Given the description of an element on the screen output the (x, y) to click on. 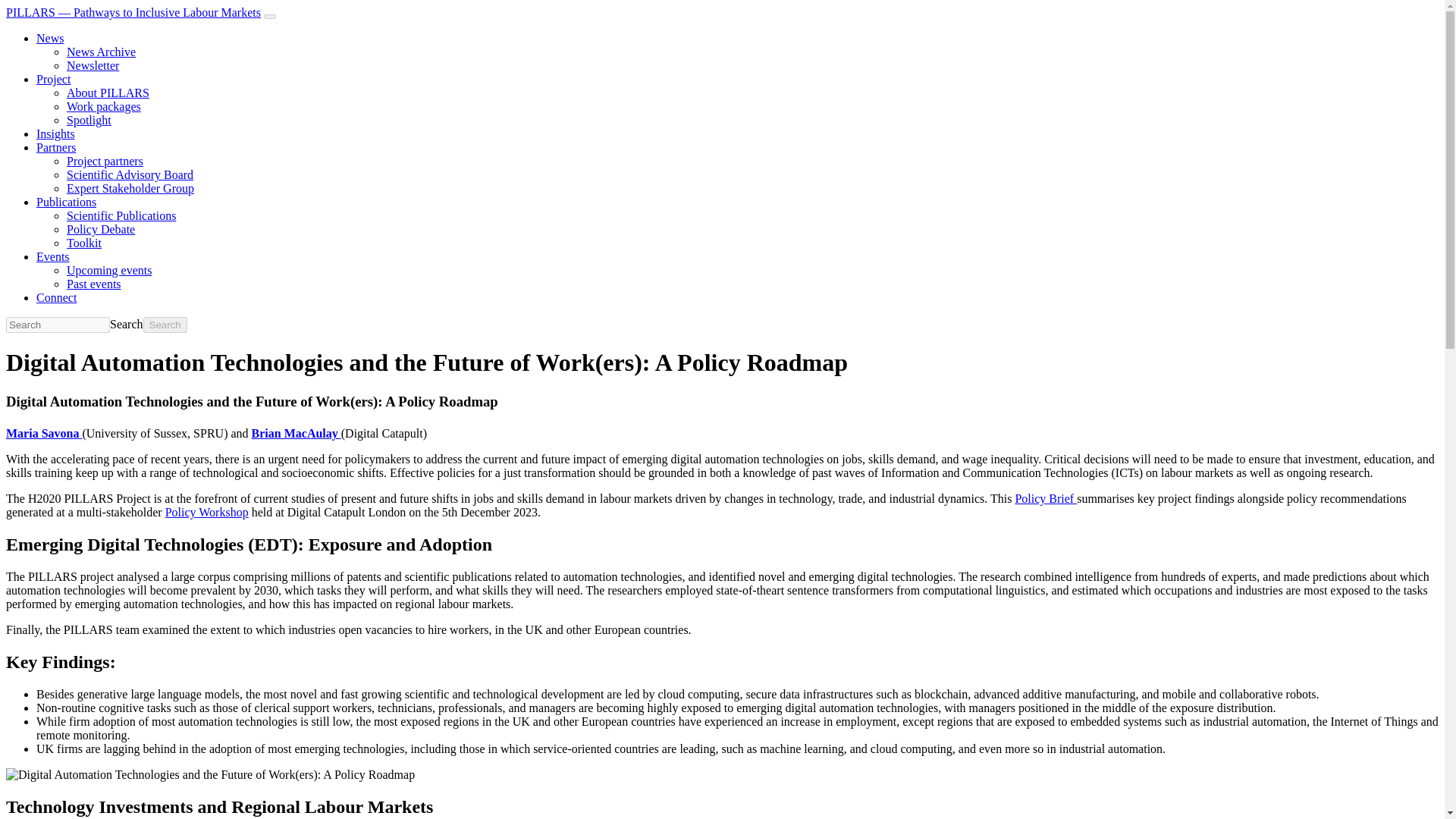
Upcoming events (108, 269)
Policy Workshop (206, 512)
Work packages (103, 106)
Search (126, 323)
Past events (93, 283)
Expand menu Events (52, 256)
Expert Stakeholder Group (129, 187)
Connect (56, 297)
Work packages (103, 106)
Partners (55, 146)
Policy Brief (1045, 498)
Connect (56, 297)
Publications (66, 201)
Scientific Advisory Board (129, 174)
Project partners (104, 160)
